Given the description of an element on the screen output the (x, y) to click on. 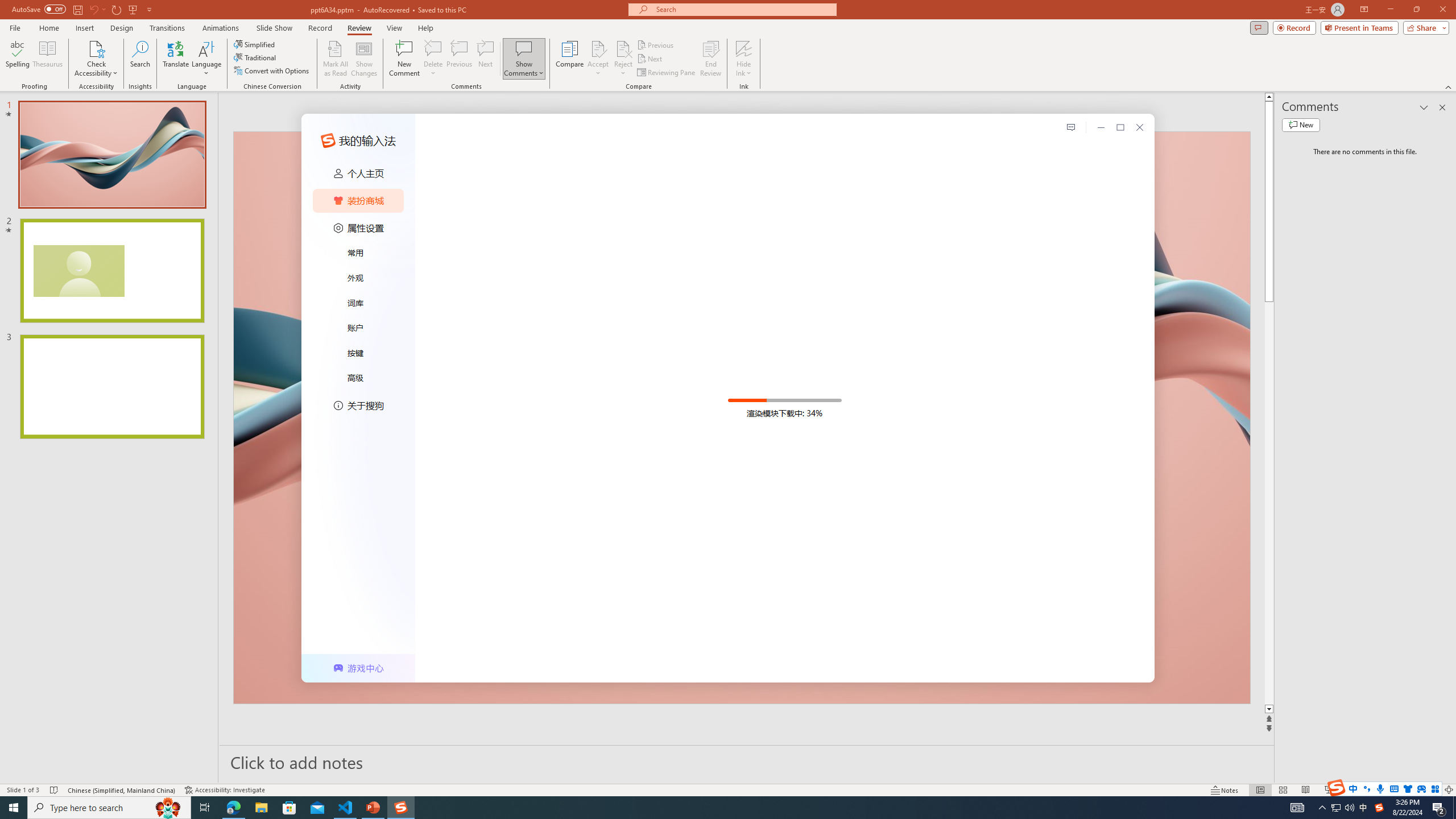
Thesaurus... (47, 58)
